Given the description of an element on the screen output the (x, y) to click on. 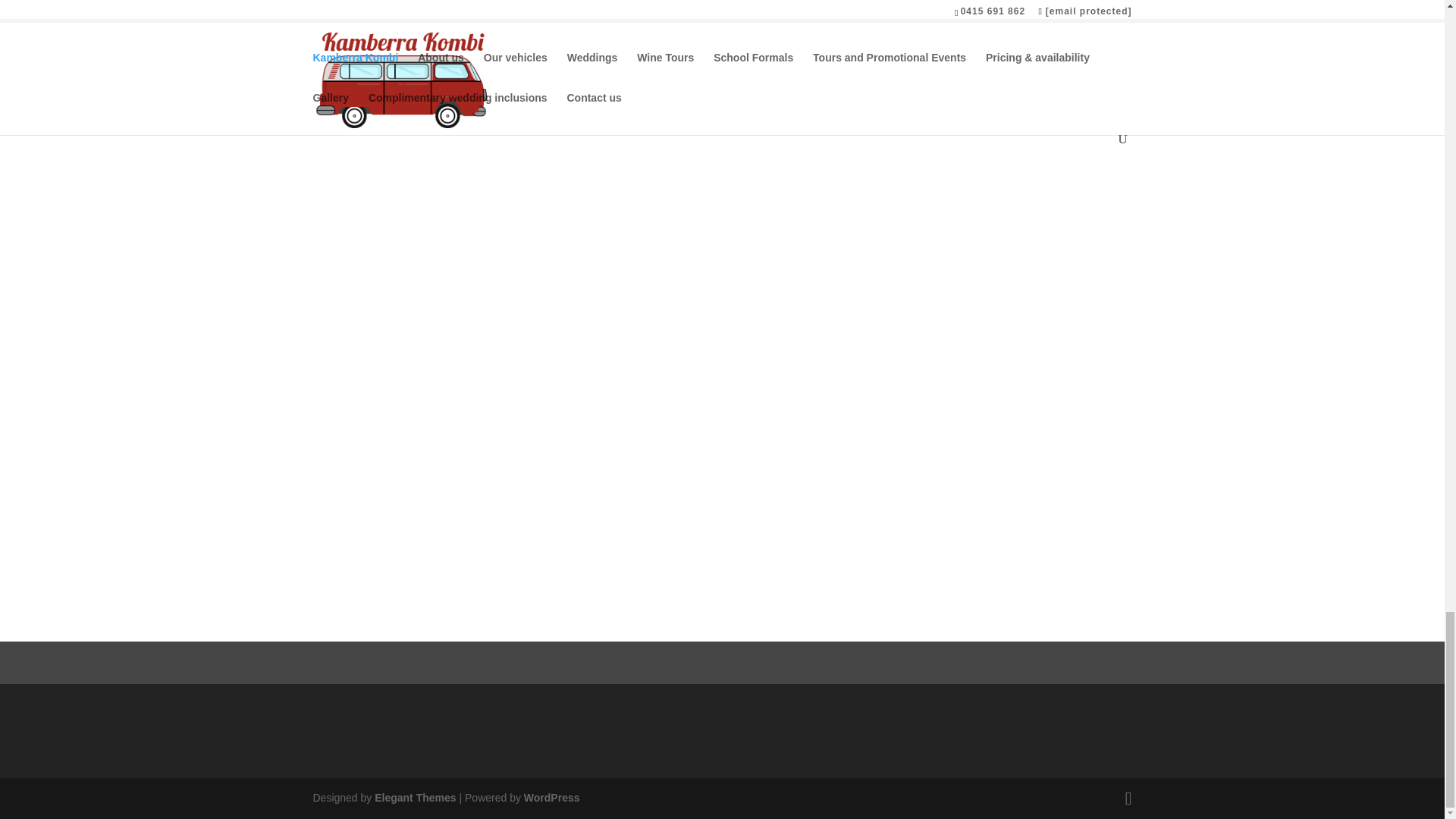
WordPress (551, 797)
Elegant Themes (414, 797)
Premium WordPress Themes (414, 797)
